Given the description of an element on the screen output the (x, y) to click on. 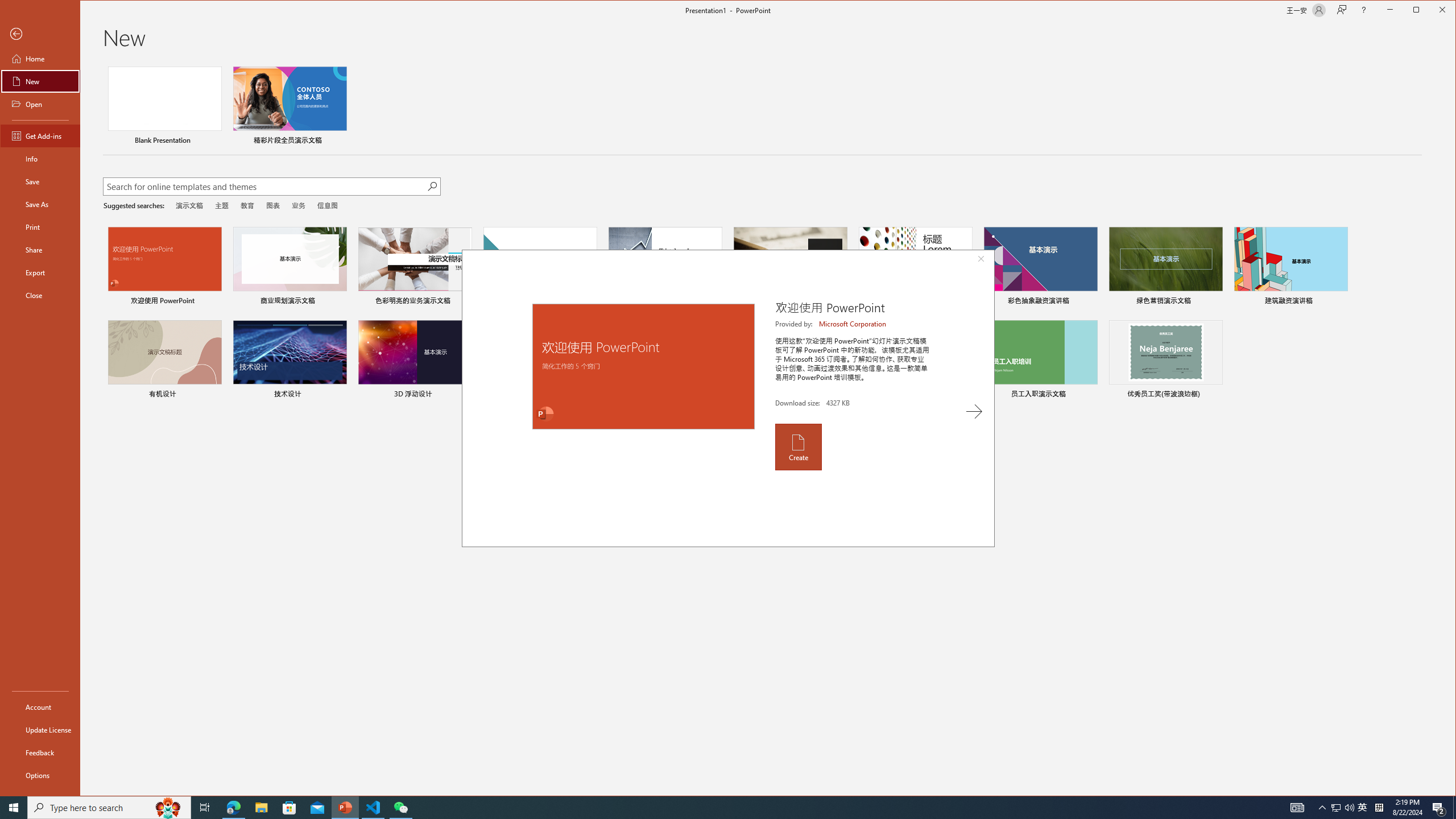
Start (13, 807)
User Promoted Notification Area (1362, 807)
Update License (1342, 807)
New (40, 729)
Microsoft Edge - 1 running window (40, 80)
Pin to list (233, 807)
